Given the description of an element on the screen output the (x, y) to click on. 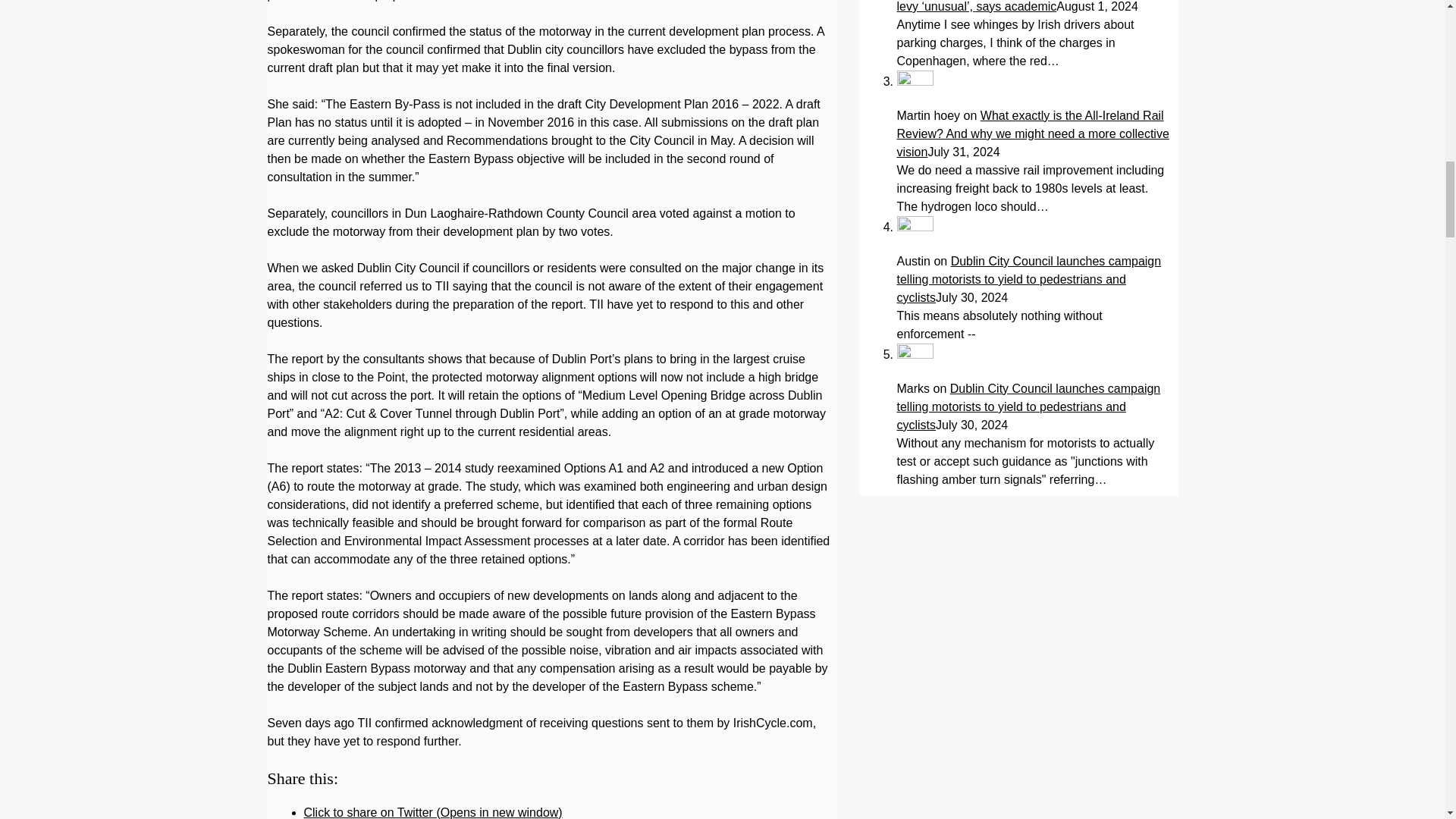
Click to share on Telegram (439, 638)
Click to share on LinkedIn (437, 620)
Click to share on Mastodon (440, 675)
Click to share on Twitter (432, 565)
Click to share on Facebook (440, 584)
Click to share on WhatsApp (442, 602)
Click to share on Reddit (432, 656)
